Given the description of an element on the screen output the (x, y) to click on. 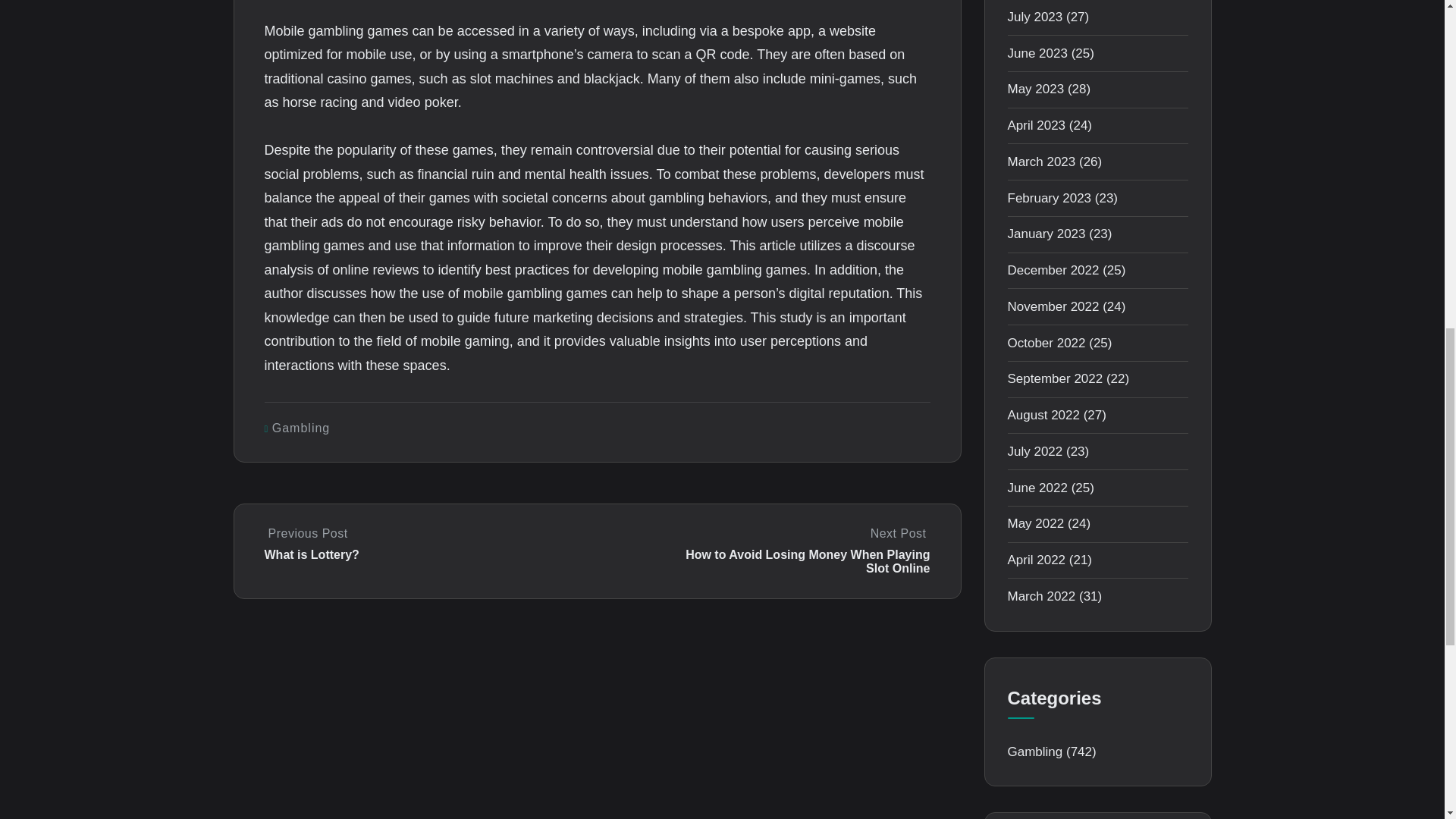
January 2023 (1045, 233)
October 2022 (1045, 342)
September 2022 (1054, 378)
Gambling (301, 427)
April 2023 (1036, 124)
November 2022 (1053, 306)
July 2023 (1034, 16)
December 2022 (1053, 269)
